Given the description of an element on the screen output the (x, y) to click on. 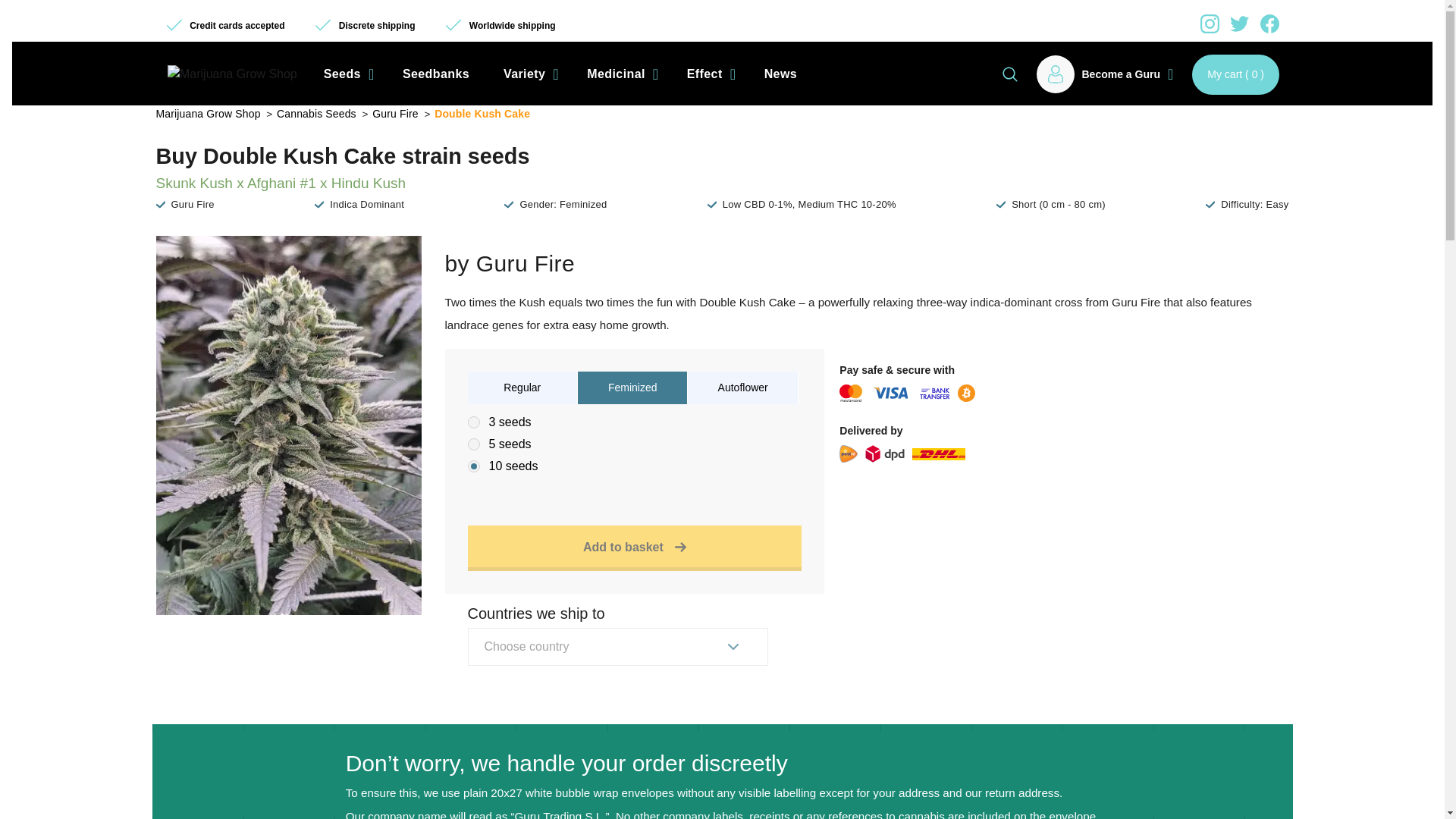
Go to the Guru Fire category archives. (395, 113)
Go to the Cannabis Seeds Category archives. (317, 113)
Seedbanks (435, 74)
Seeds (346, 74)
Go to Marijuana Grow Shop. (208, 113)
Variety (527, 74)
Marijuana Grow Shop (232, 74)
Effect (708, 74)
Medicinal (620, 74)
